Given the description of an element on the screen output the (x, y) to click on. 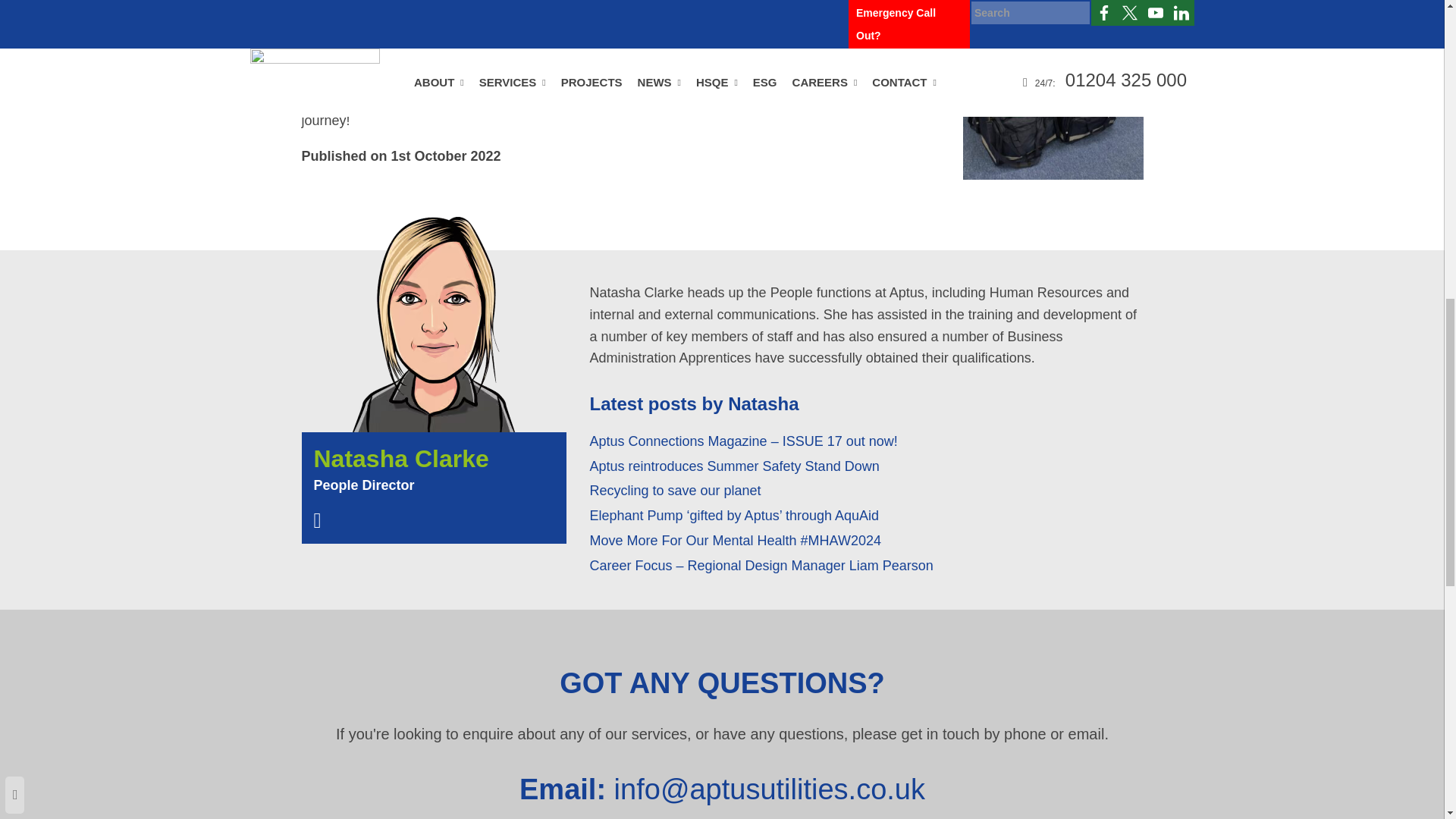
IMG 5871 (1052, 93)
